Given the description of an element on the screen output the (x, y) to click on. 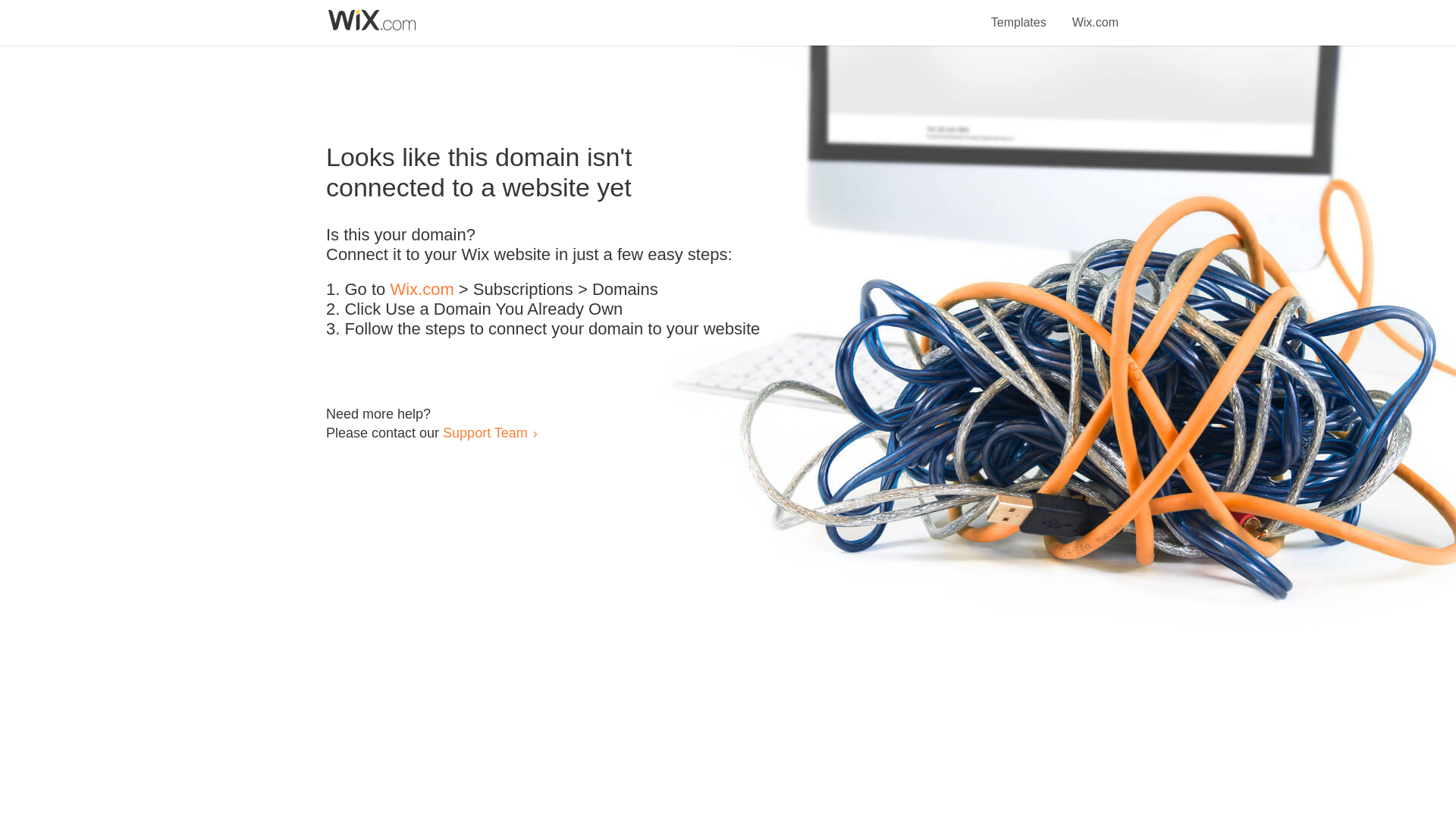
Wix.com (1095, 14)
Templates (1018, 14)
Support Team (484, 432)
Wix.com (421, 289)
